Given the description of an element on the screen output the (x, y) to click on. 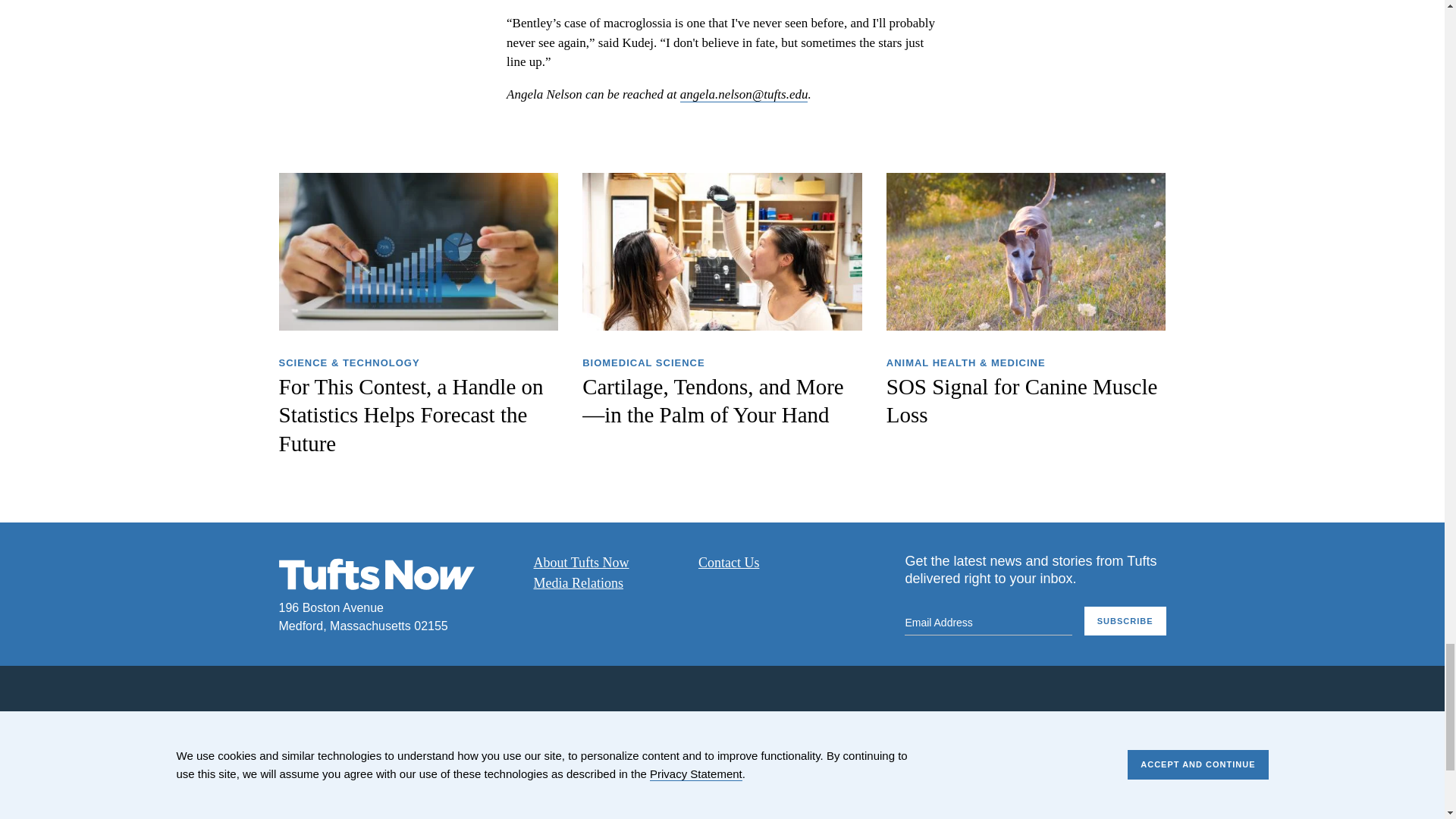
Subscribe (1125, 621)
